Given the description of an element on the screen output the (x, y) to click on. 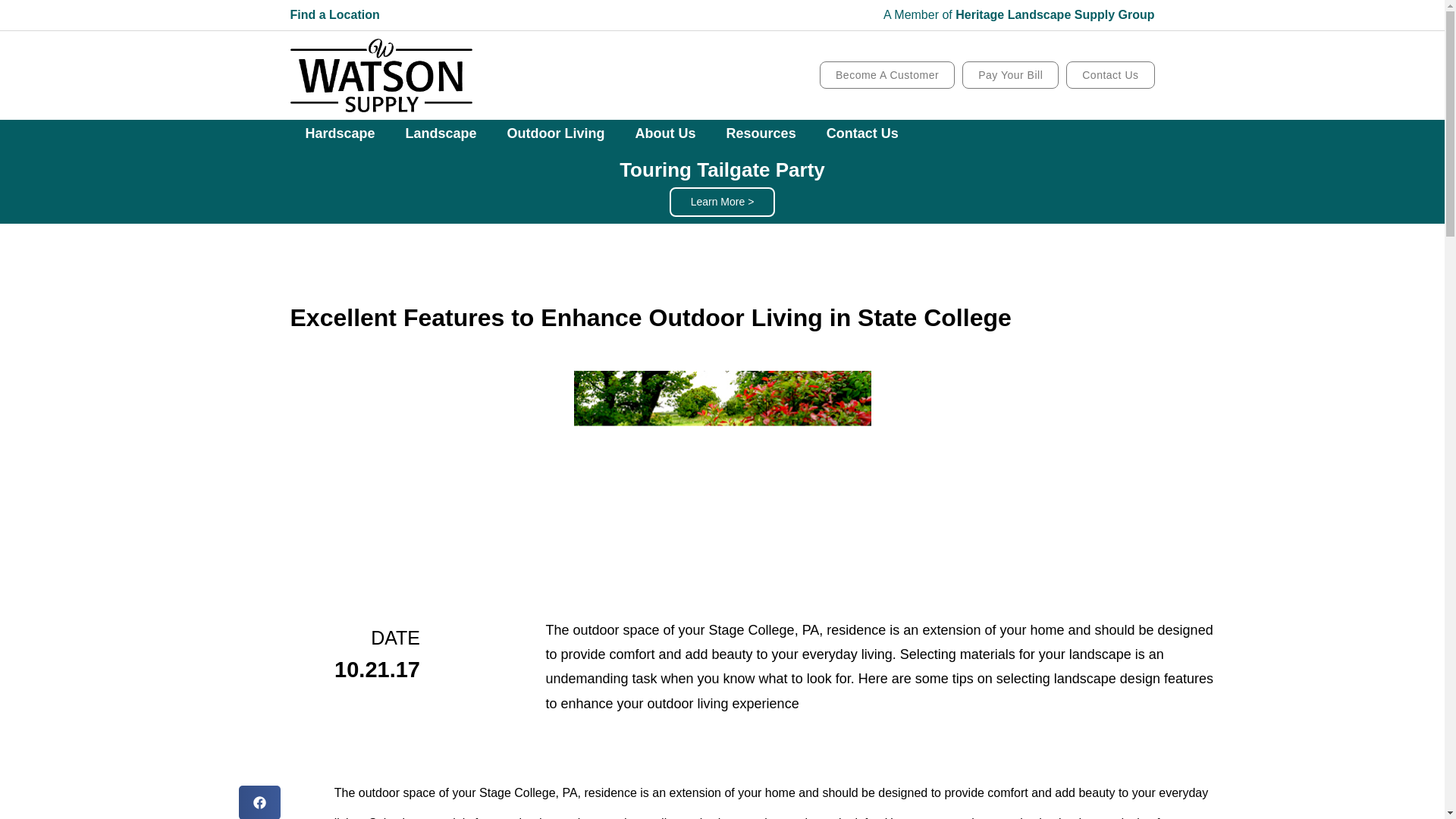
Pay Your Bill (1010, 74)
Become A Customer (887, 74)
Contact Us (1109, 74)
Outdoor Living (556, 133)
Resources (760, 133)
Contact Us (862, 133)
About Us (665, 133)
Hardscape (339, 133)
Find a Location (333, 14)
Heritage Landscape Supply Group (1054, 14)
